Given the description of an element on the screen output the (x, y) to click on. 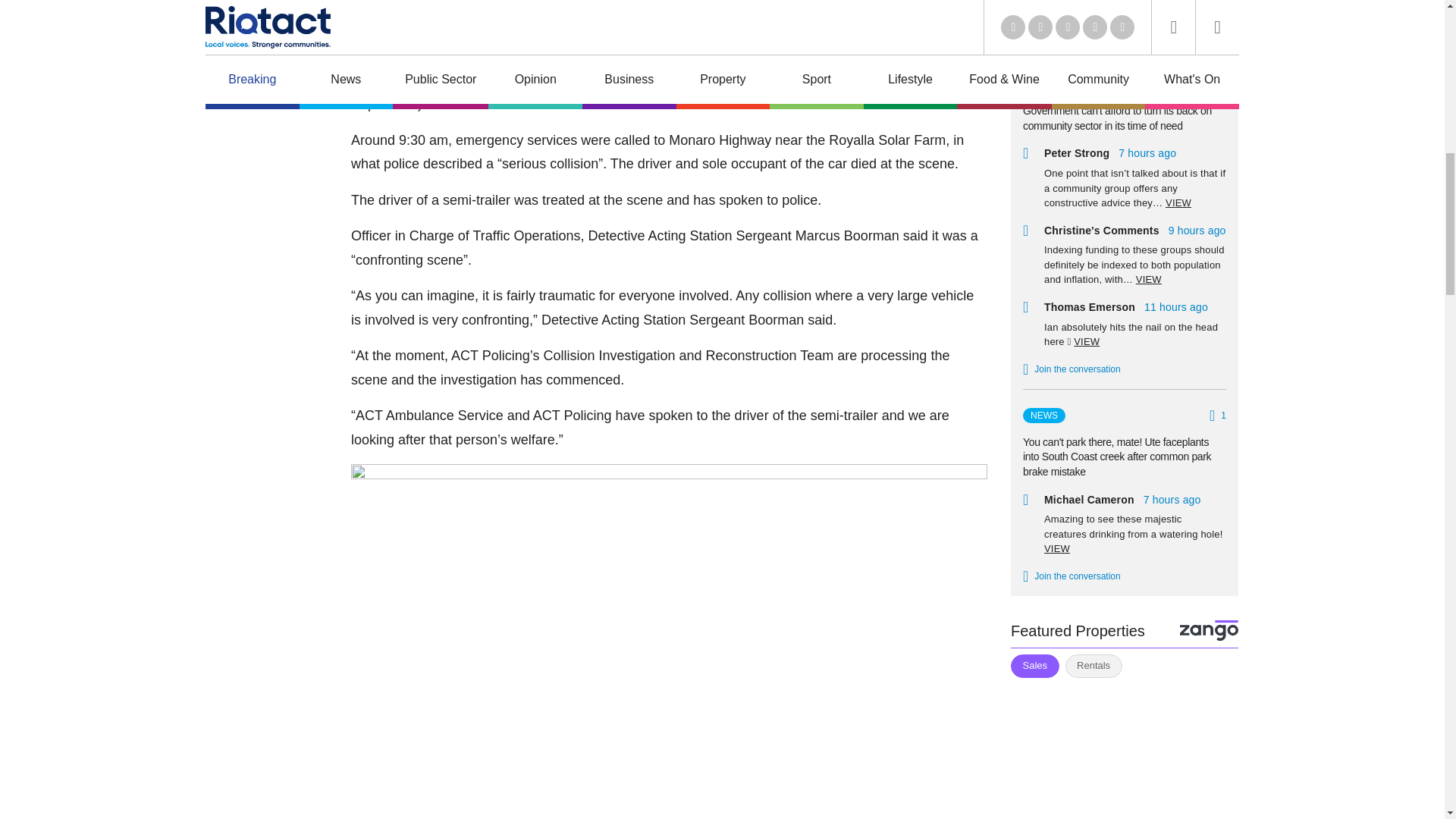
Zango Sales (1124, 751)
Zango (1209, 629)
